Given the description of an element on the screen output the (x, y) to click on. 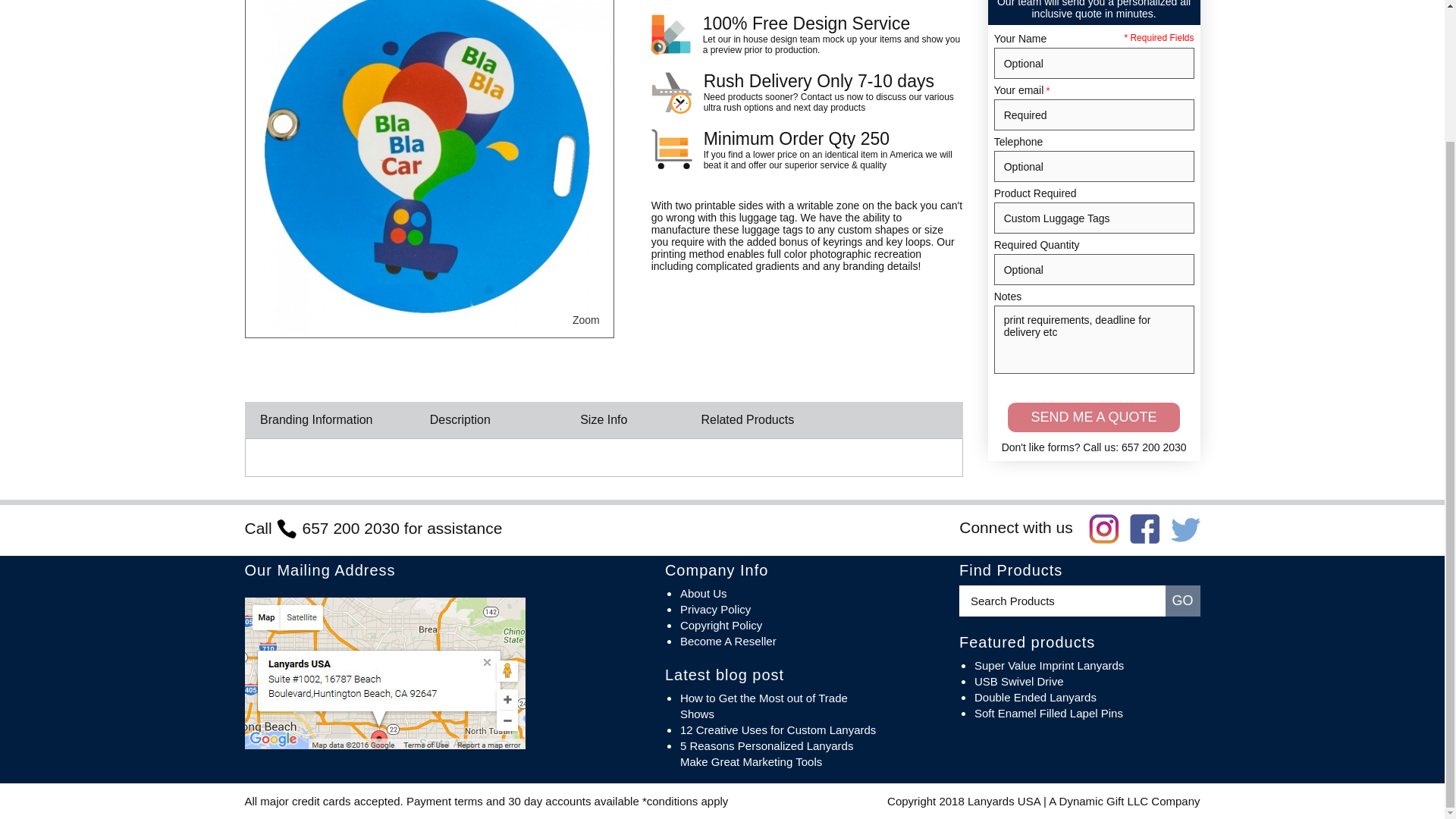
Custom Luggage Tags (428, 166)
Custom Luggage Tags (586, 320)
Custom Luggage Tags (1093, 217)
